Given the description of an element on the screen output the (x, y) to click on. 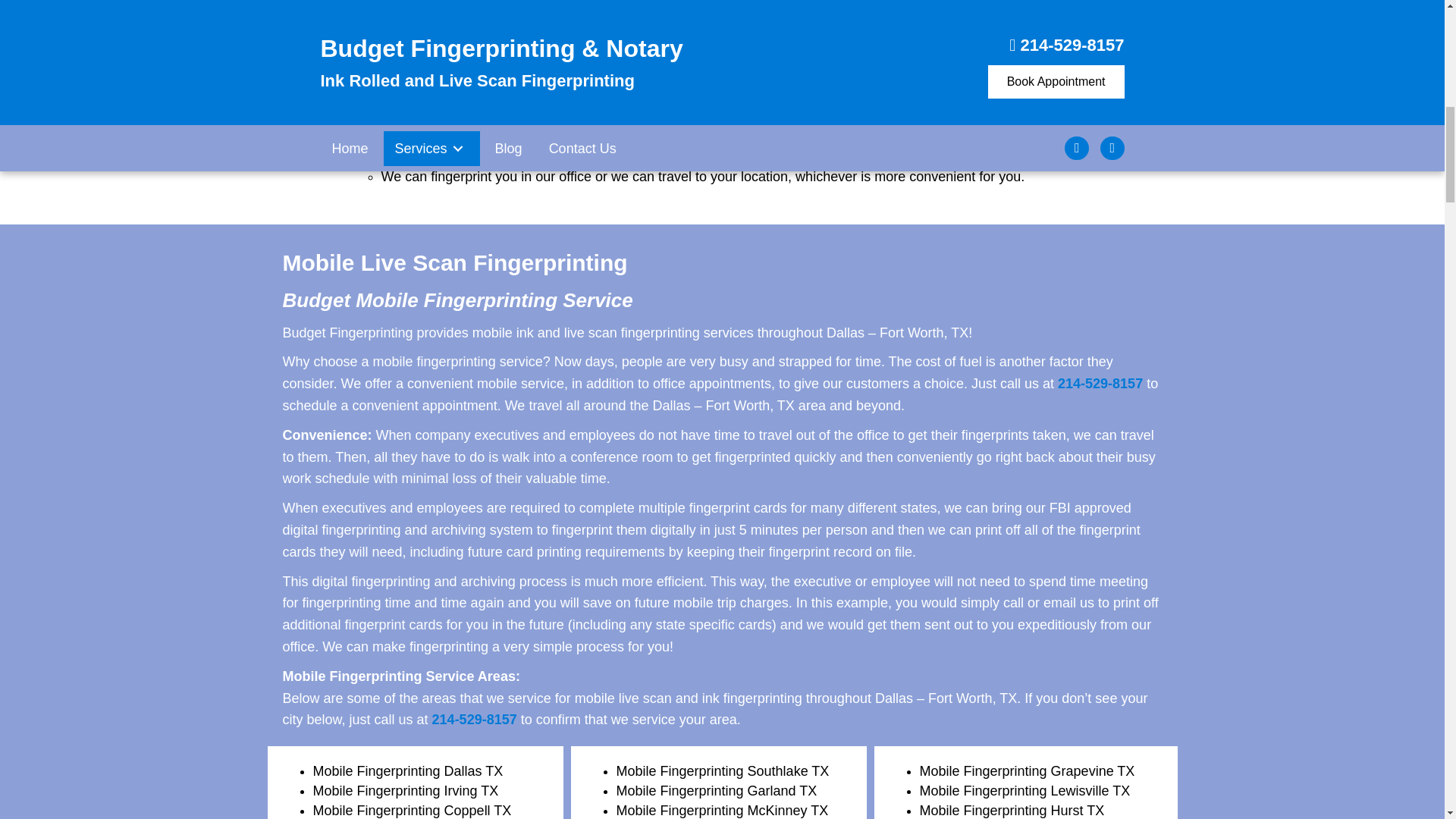
214-529-8157 (474, 719)
214-529-8157 (1100, 383)
